Given the description of an element on the screen output the (x, y) to click on. 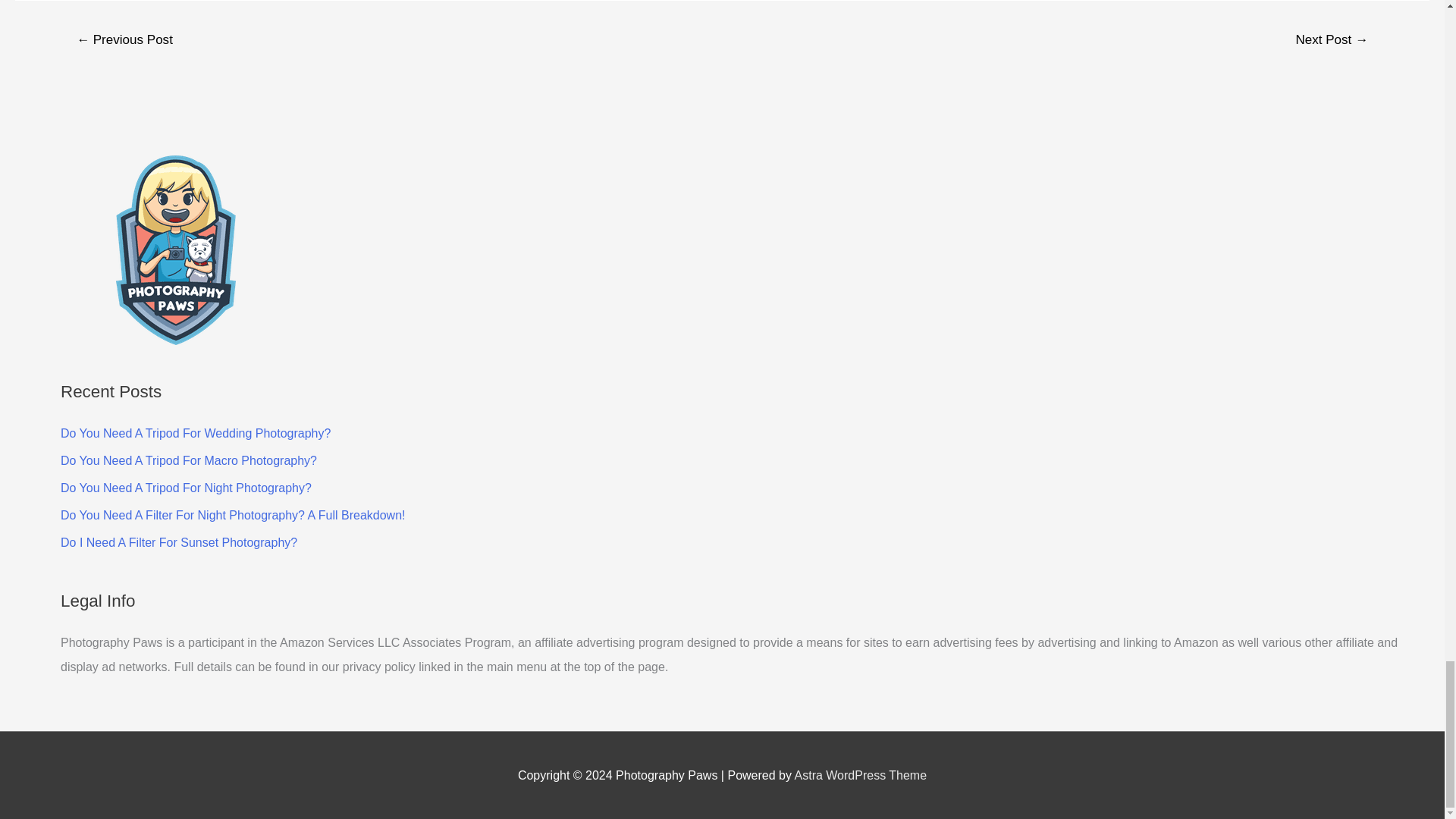
Do You Need A Tripod For Macro Photography? (189, 460)
Do I Need A Filter For Sunset Photography? (179, 542)
Astra WordPress Theme (860, 775)
Do You Need A Tripod For Wedding Photography? (195, 432)
Do You Need A Tripod For Night Photography? (186, 487)
